Given the description of an element on the screen output the (x, y) to click on. 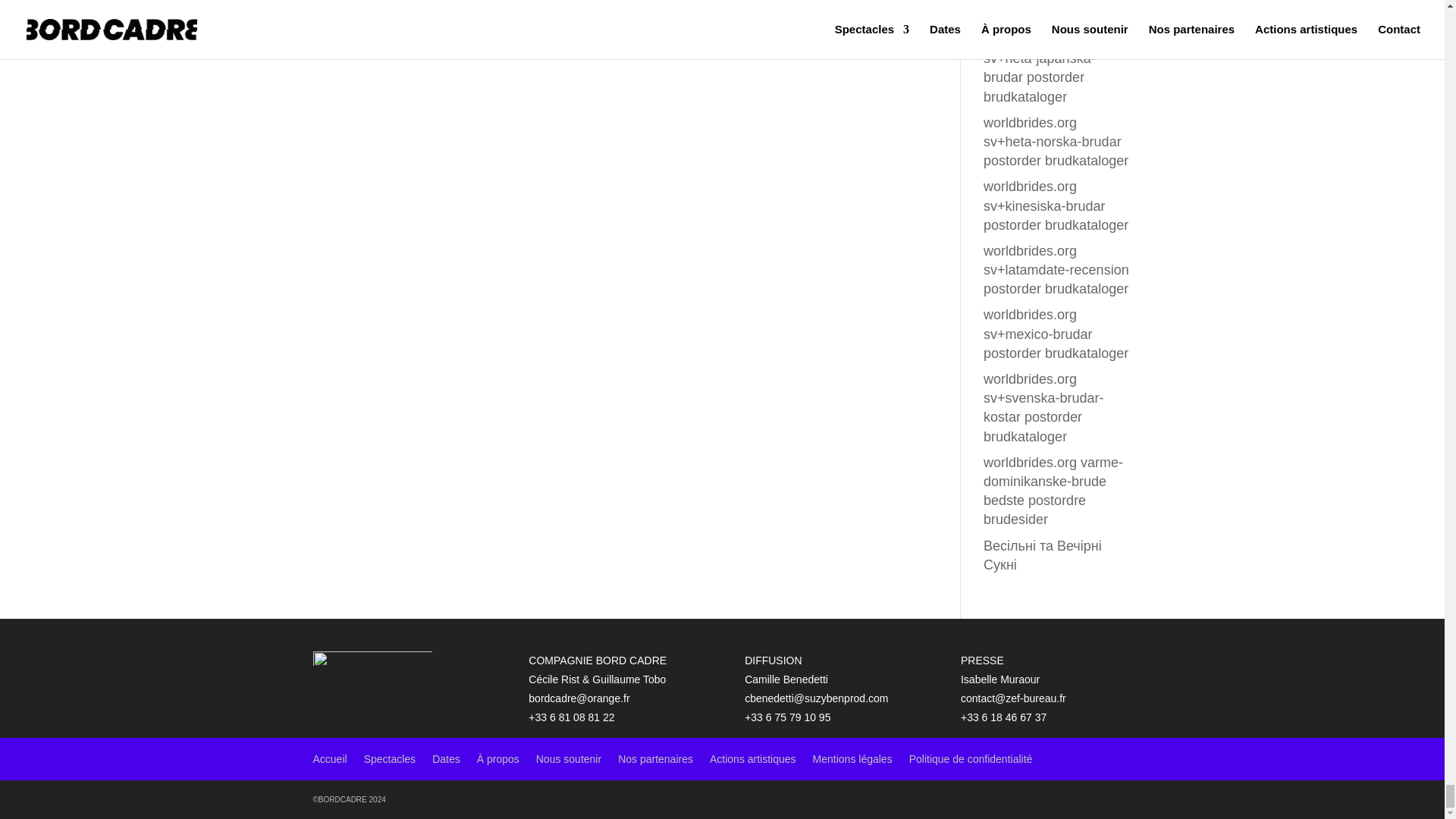
Logo-blanc (372, 658)
